Given the description of an element on the screen output the (x, y) to click on. 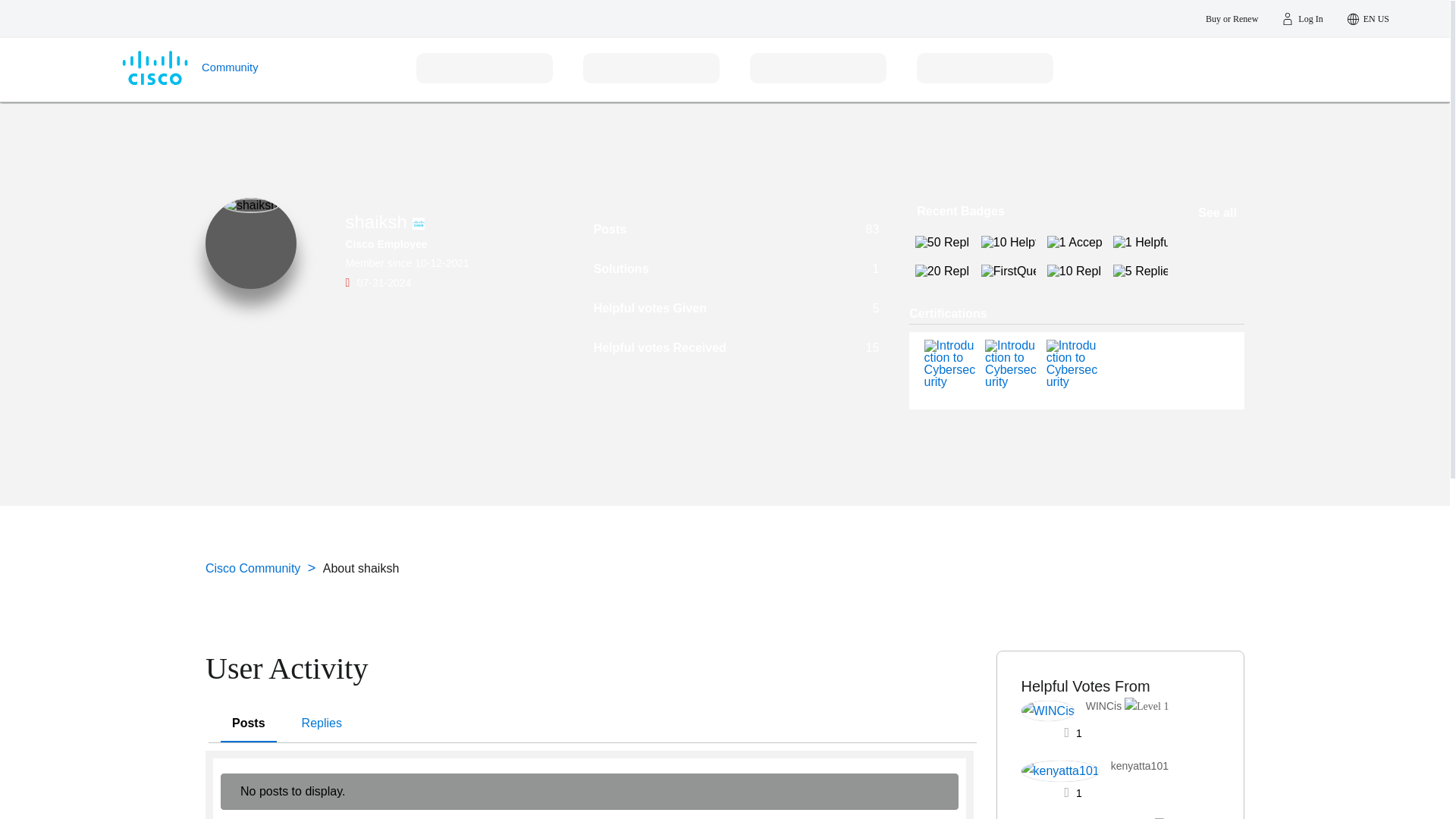
shaiksh (250, 205)
5 Replies  (1140, 271)
10 Helpful Vote (1008, 242)
1 Helpful Vote (1140, 242)
Introduction to Cybersecurity (1012, 381)
Introduction to Cybersecurity (1073, 363)
Introduction to Cybersecurity (1012, 363)
1 Accepted Solution (1074, 242)
Cisco Employee (418, 223)
FirstQuestion (1008, 271)
